Given the description of an element on the screen output the (x, y) to click on. 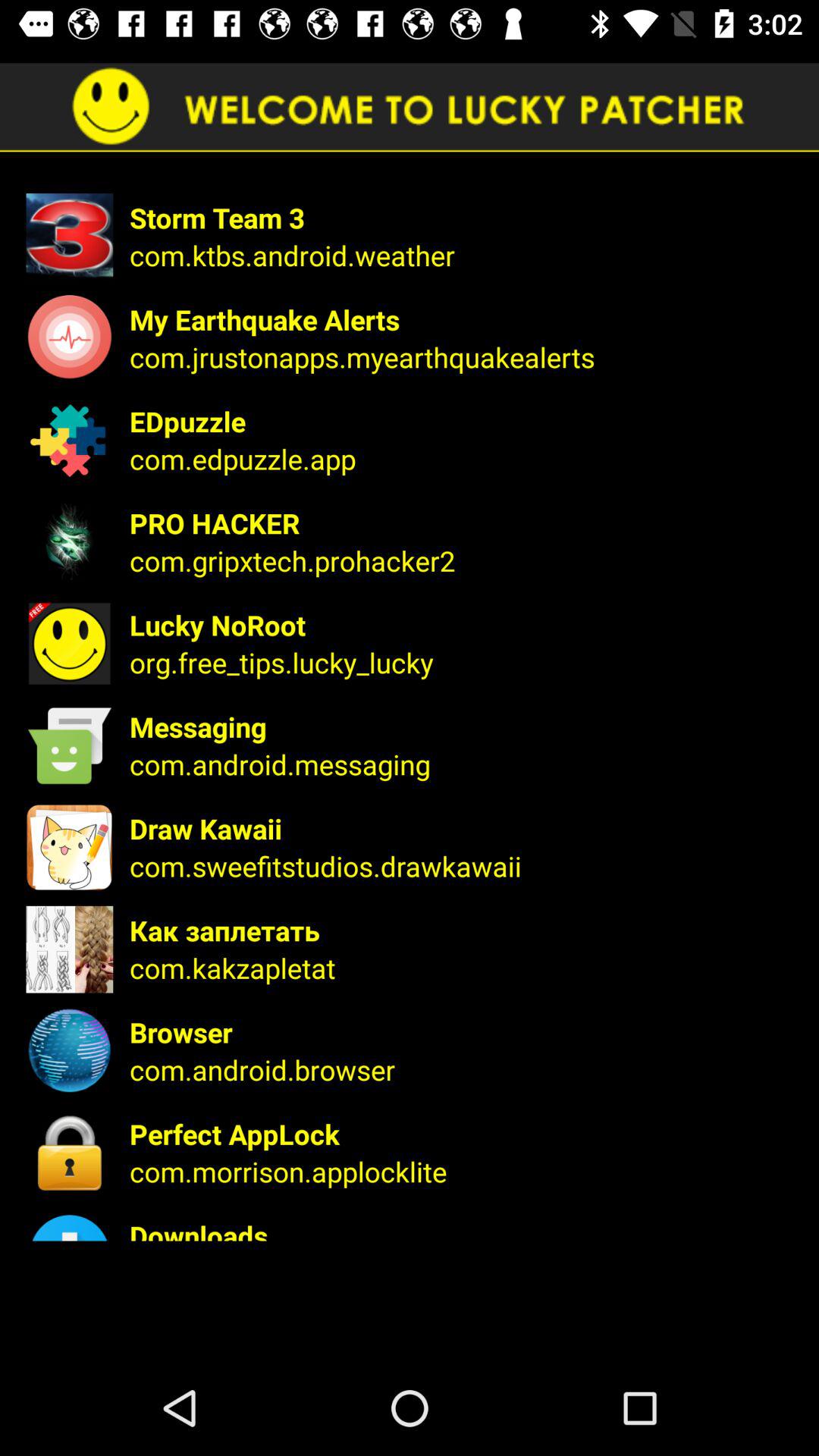
turn off lucky noroot item (464, 624)
